Given the description of an element on the screen output the (x, y) to click on. 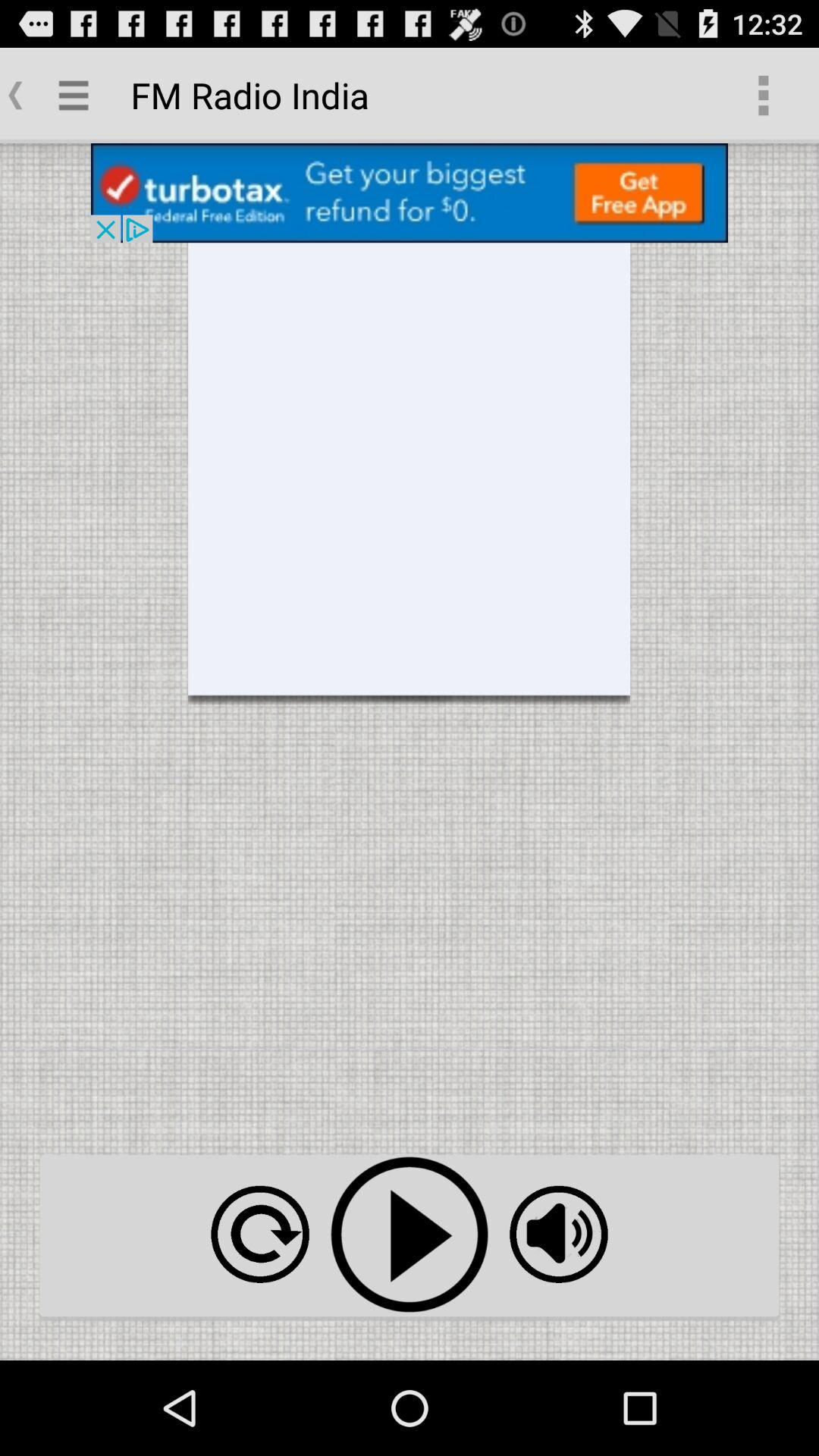
select item at the bottom left corner (259, 1234)
